Given the description of an element on the screen output the (x, y) to click on. 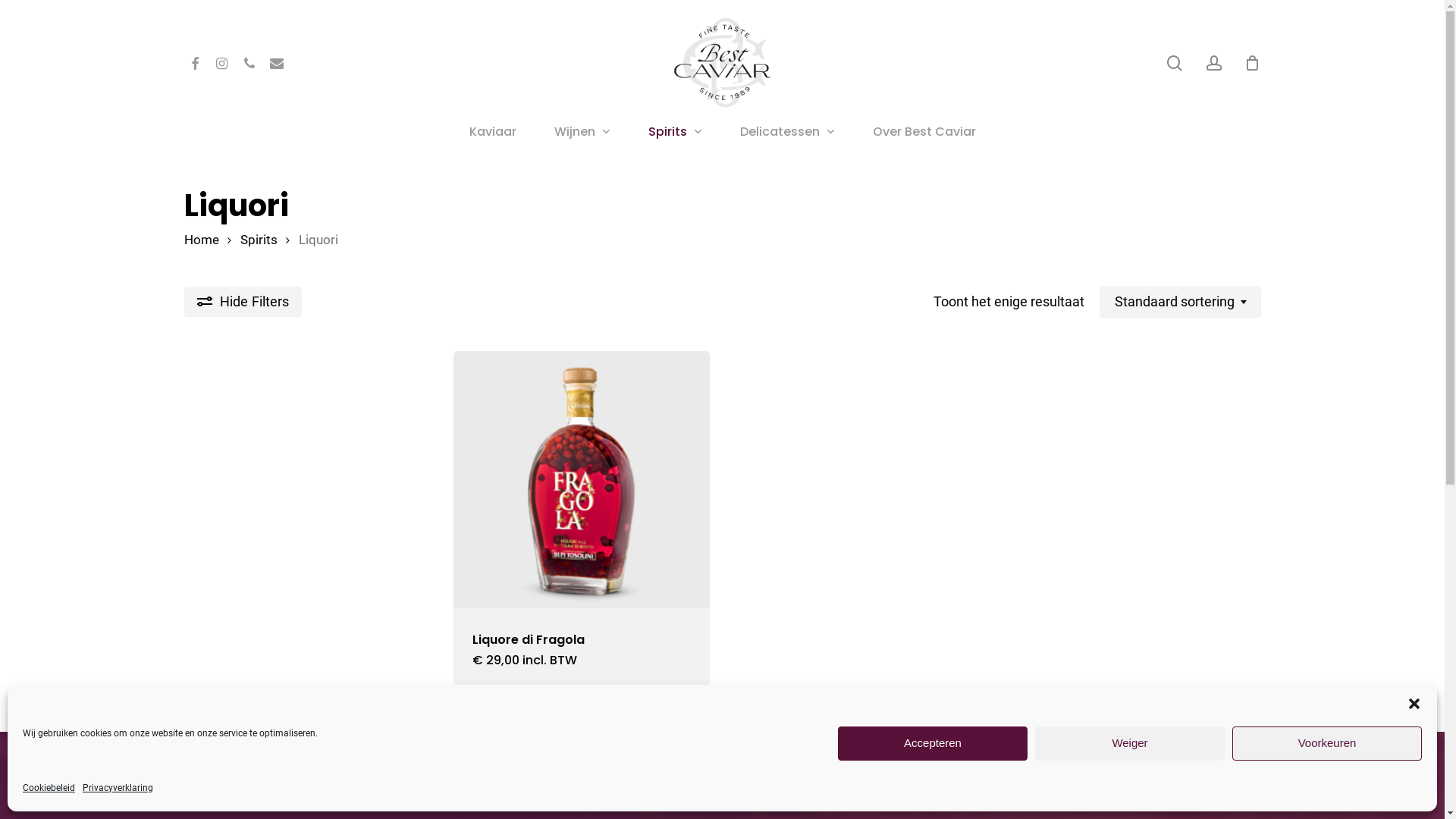
Kaviaar Element type: text (492, 131)
Liquore di Fragola Element type: text (527, 638)
Wijnen Element type: text (582, 131)
Spirits Element type: text (257, 239)
Voorkeuren Element type: text (1326, 743)
Facebook Element type: text (193, 63)
Delicatessen Element type: text (786, 131)
search Element type: text (1173, 62)
Home Element type: text (200, 239)
Instagram Element type: text (221, 63)
Spirits Element type: text (675, 131)
Hide
Filters Element type: text (242, 301)
Privacyverklaring Element type: text (117, 787)
account Element type: text (1213, 62)
Email Element type: text (275, 63)
Cookiebeleid Element type: text (48, 787)
Over Best Caviar Element type: text (923, 131)
Weiger Element type: text (1129, 743)
Phone Element type: text (248, 63)
Accepteren Element type: text (932, 743)
